Given the description of an element on the screen output the (x, y) to click on. 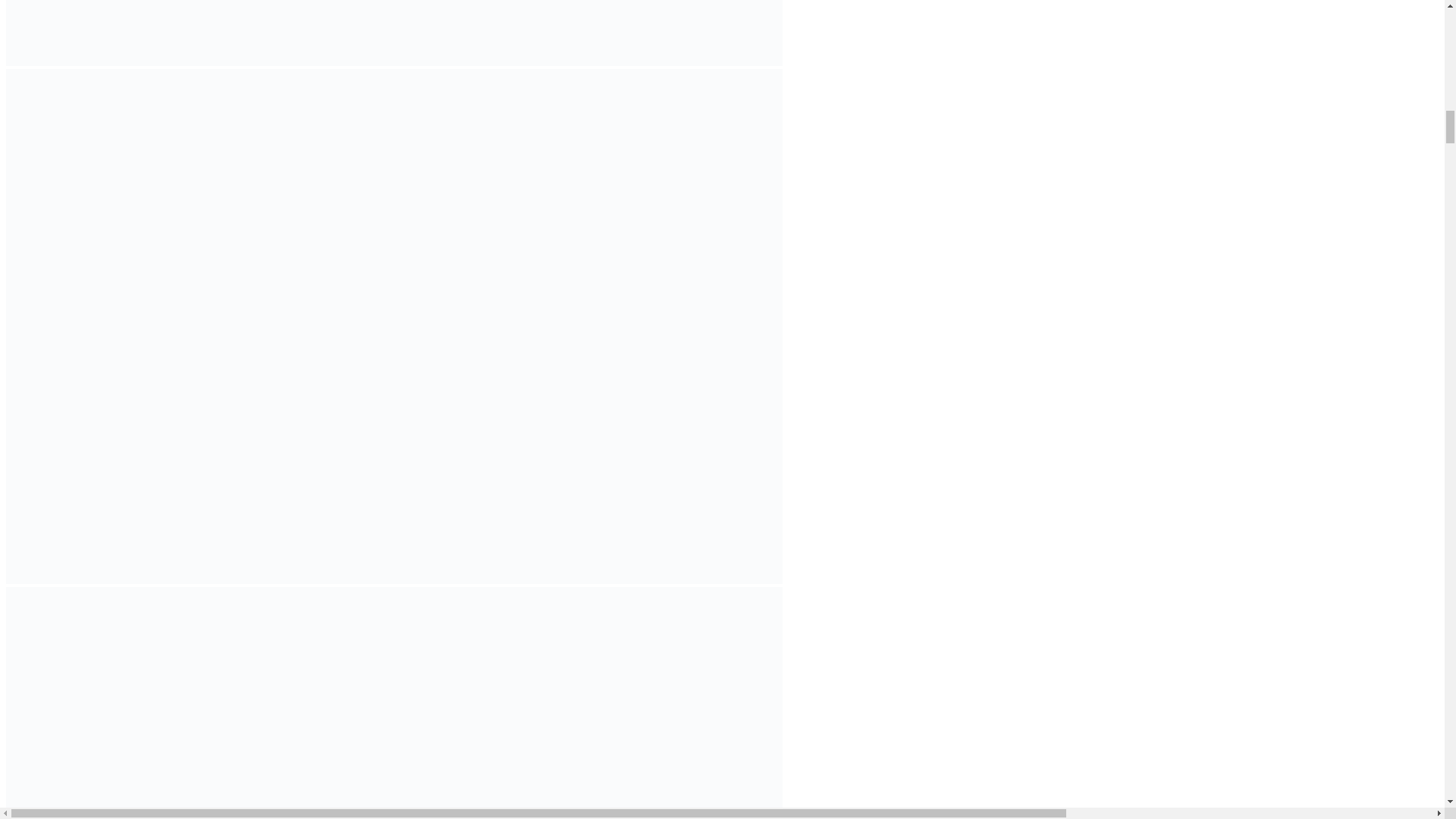
Packaging Redesign: Yam Kombucha (394, 33)
